Given the description of an element on the screen output the (x, y) to click on. 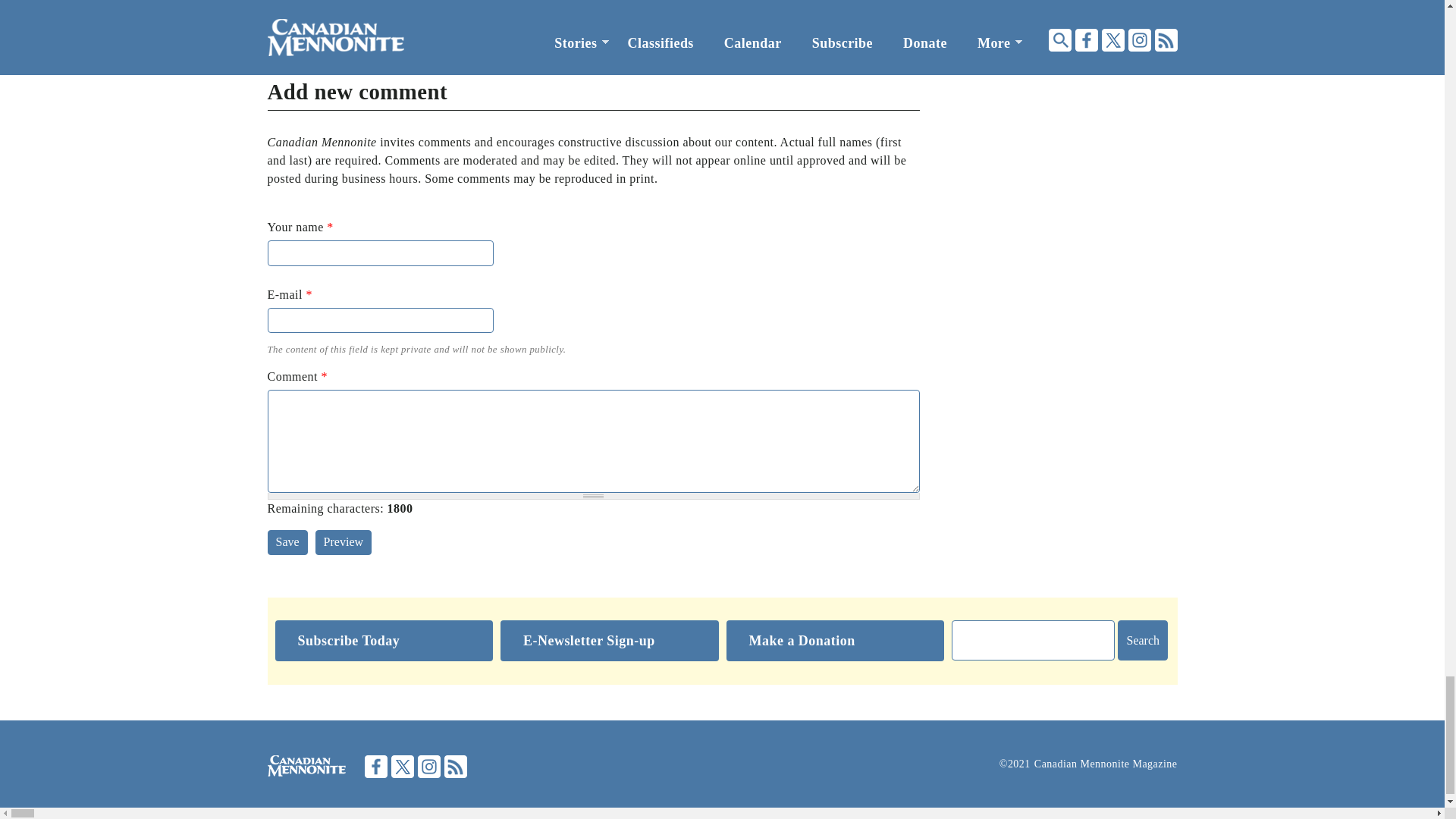
Preview (343, 542)
Search (1142, 639)
Save (286, 542)
